Given the description of an element on the screen output the (x, y) to click on. 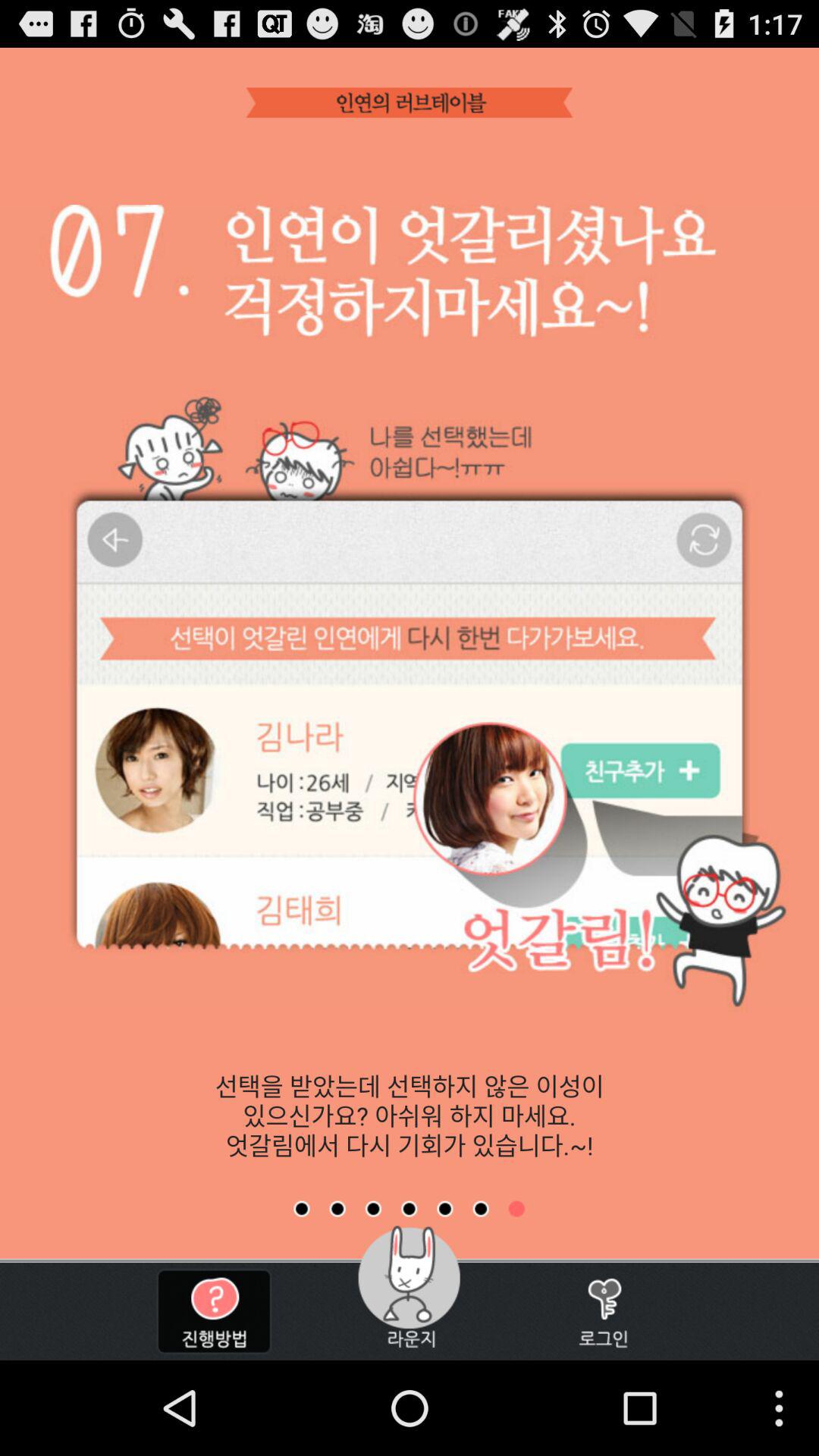
slider (373, 1208)
